Given the description of an element on the screen output the (x, y) to click on. 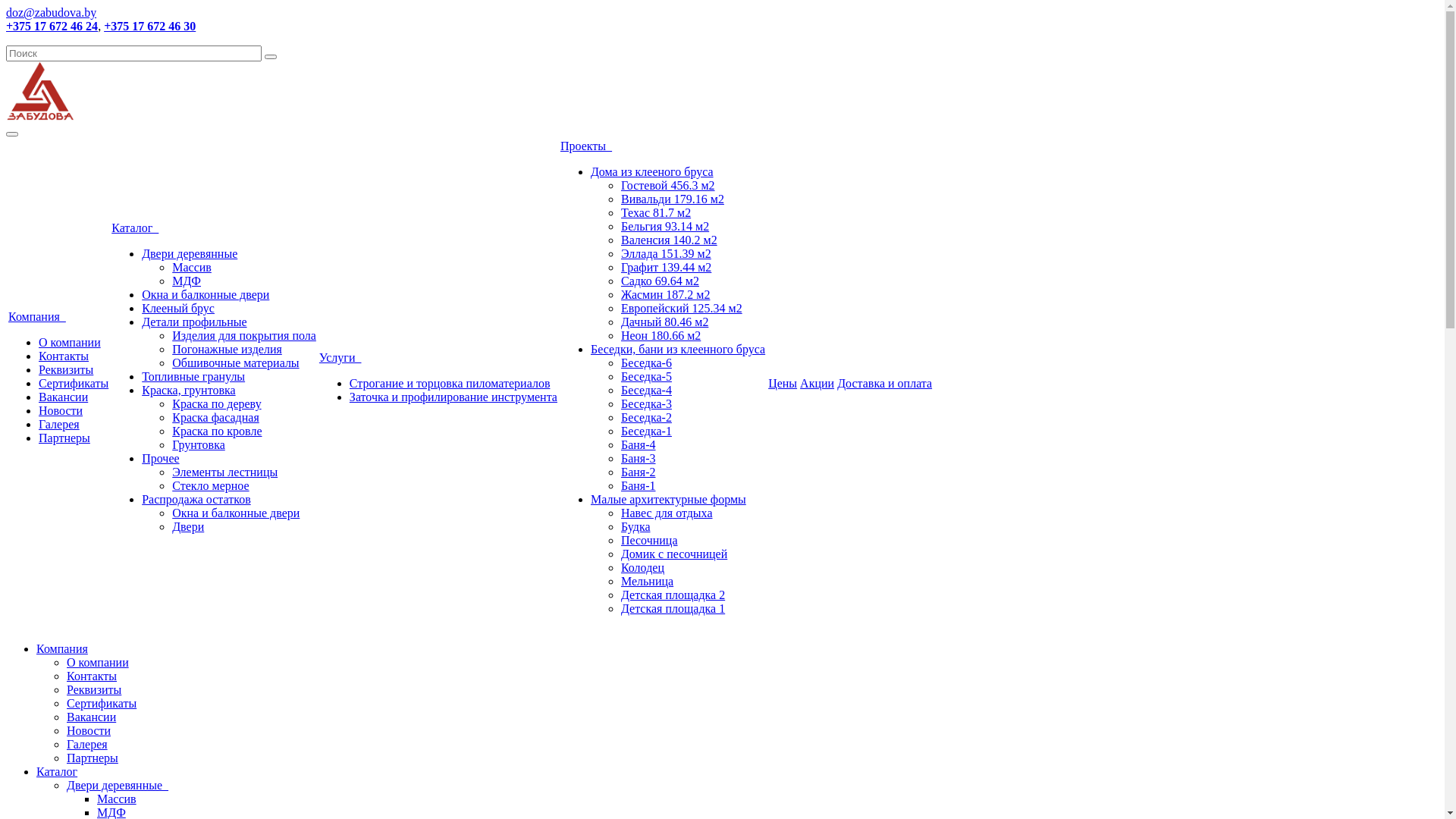
logo.png Element type: hover (40, 90)
+375 17 672 46 24 Element type: text (51, 25)
doz@zabudova.by Element type: text (51, 12)
+375 17 672 46 30 Element type: text (149, 25)
